Given the description of an element on the screen output the (x, y) to click on. 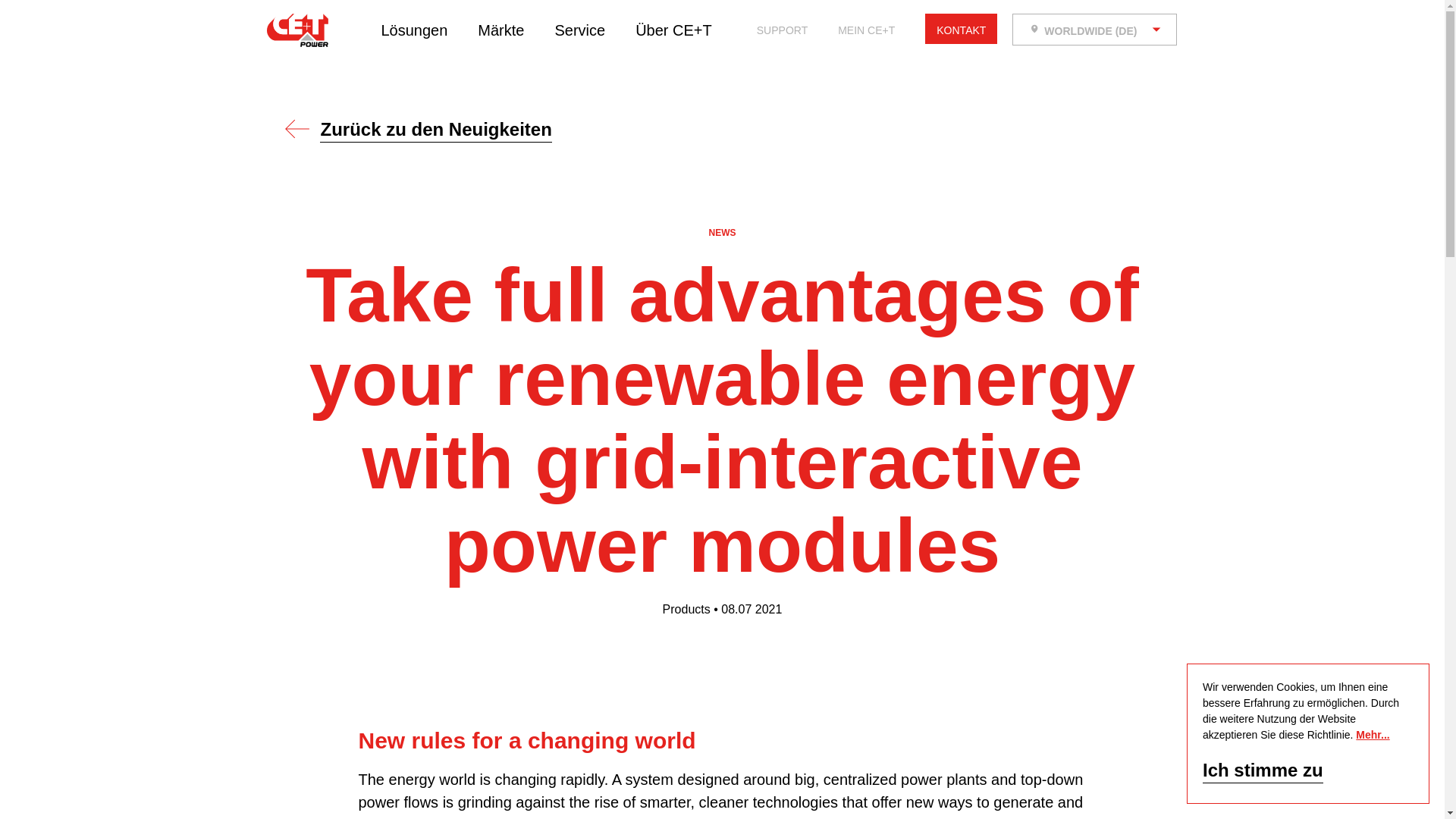
KONTAKT (960, 30)
SUPPORT (782, 30)
